Given the description of an element on the screen output the (x, y) to click on. 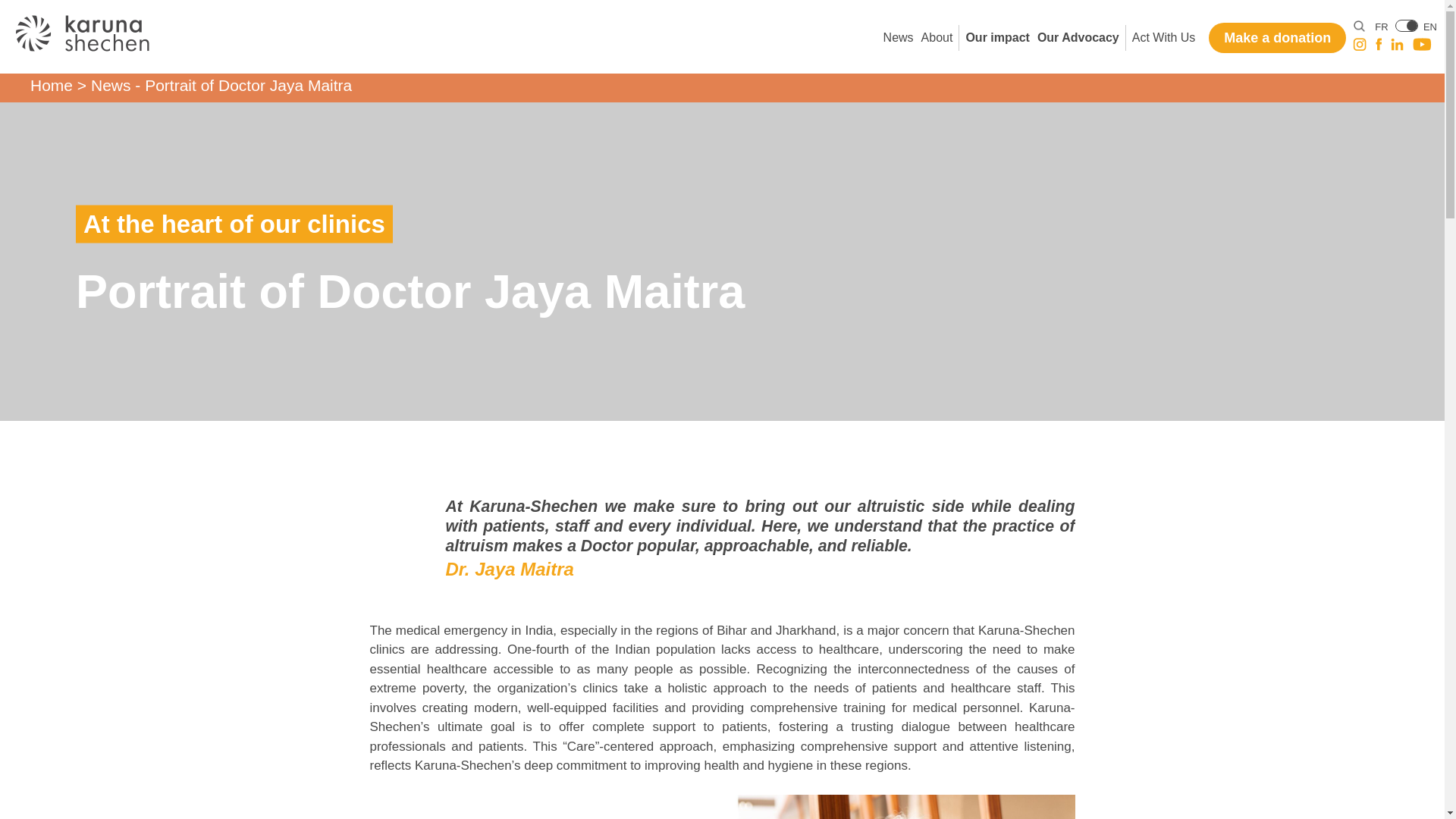
Portrait of Doctor Jaya Maitra (82, 33)
Make a donation (1276, 37)
Go to News. (110, 85)
Act With Us (1163, 37)
Our impact (997, 37)
News (898, 37)
FR (1380, 26)
About (937, 37)
Go to Home. (51, 85)
Our Advocacy (1077, 37)
